Given the description of an element on the screen output the (x, y) to click on. 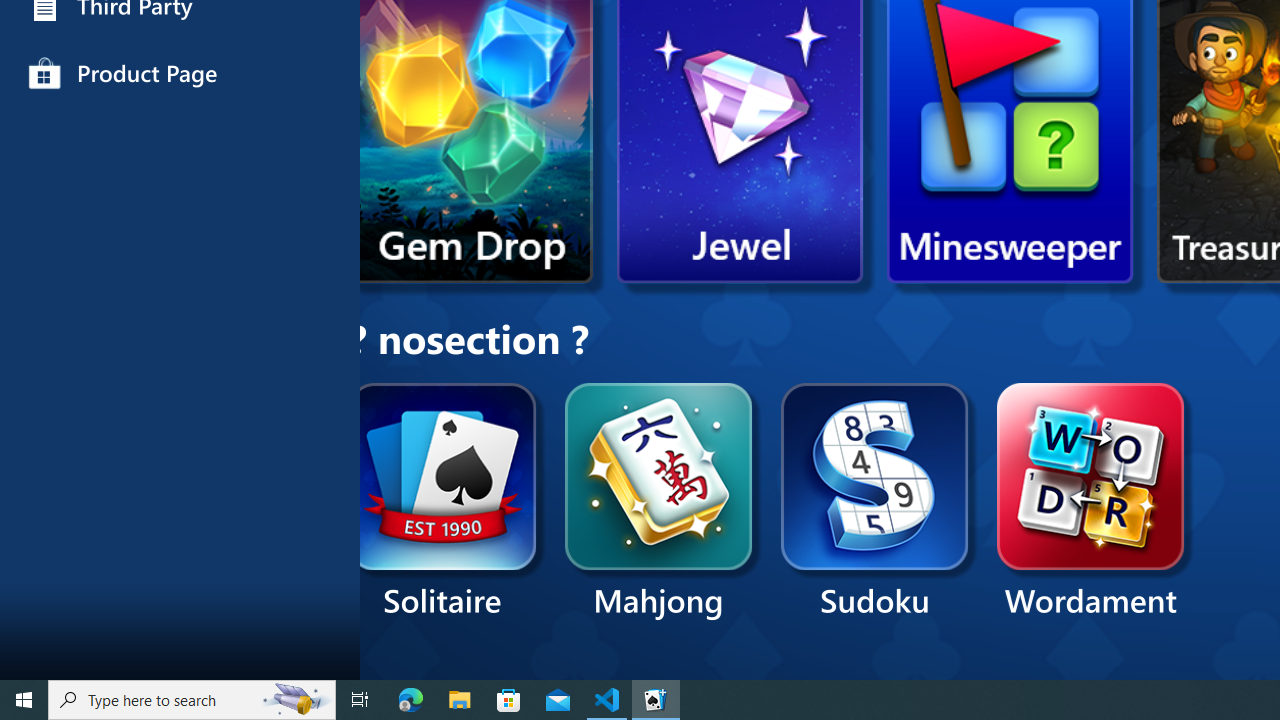
Microsoft Edge (411, 699)
Sudoku (875, 502)
Wordament (1090, 502)
Solitaire (442, 502)
Product Page (179, 74)
Solitaire & Casual Games - 1 running window (656, 699)
Mahjong (659, 502)
File Explorer (460, 699)
